Given the description of an element on the screen output the (x, y) to click on. 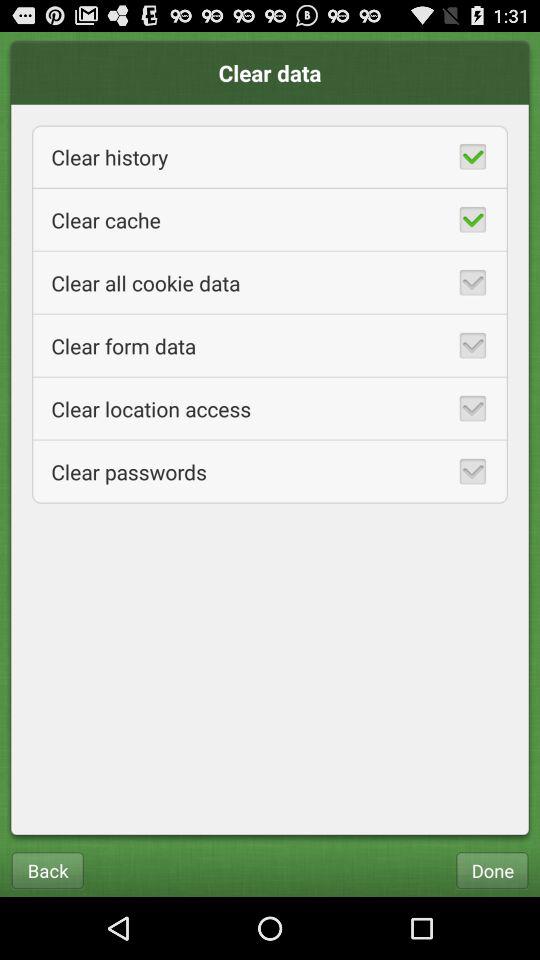
jump until the done item (492, 870)
